Given the description of an element on the screen output the (x, y) to click on. 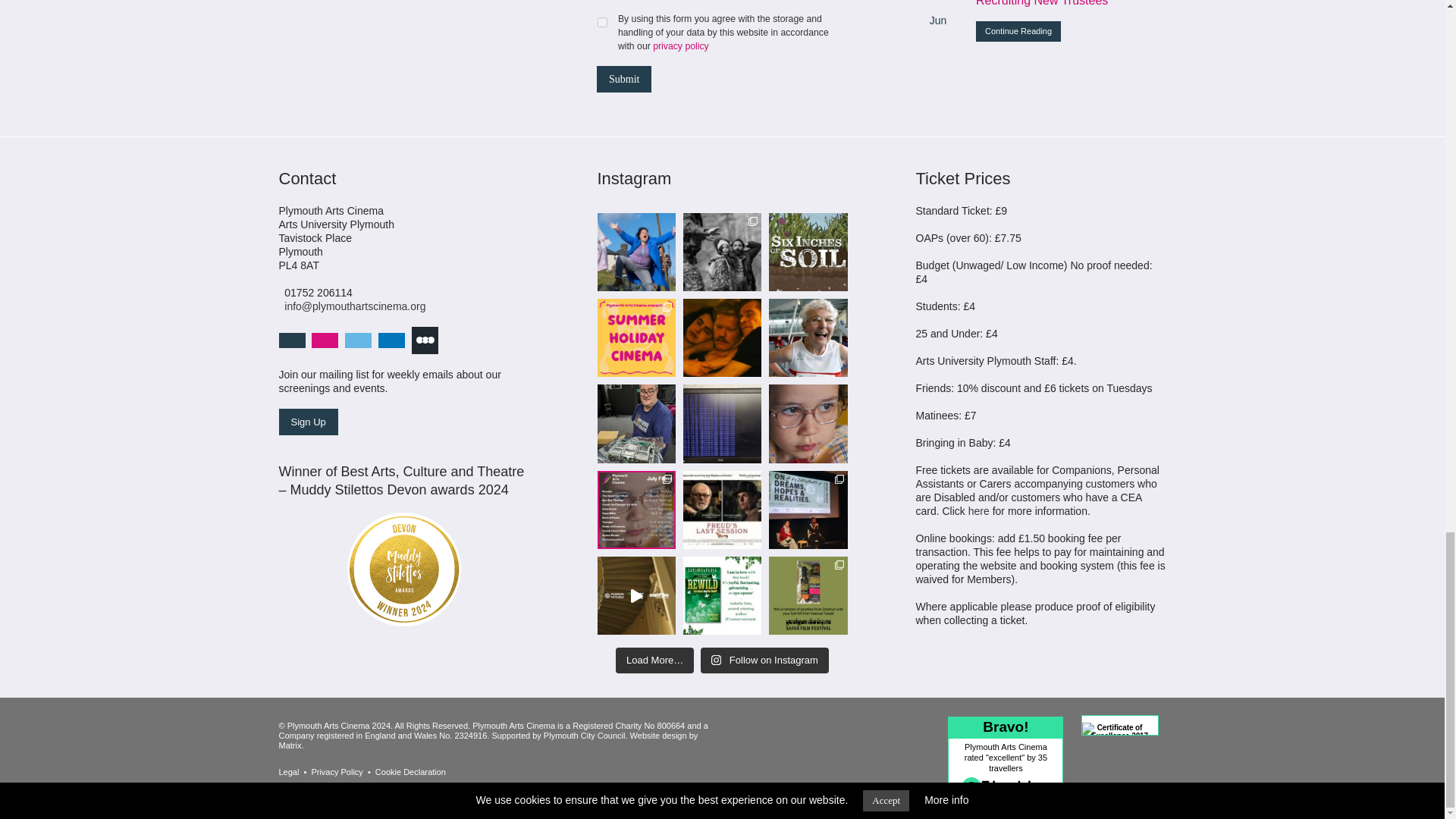
Submit (623, 79)
